Given the description of an element on the screen output the (x, y) to click on. 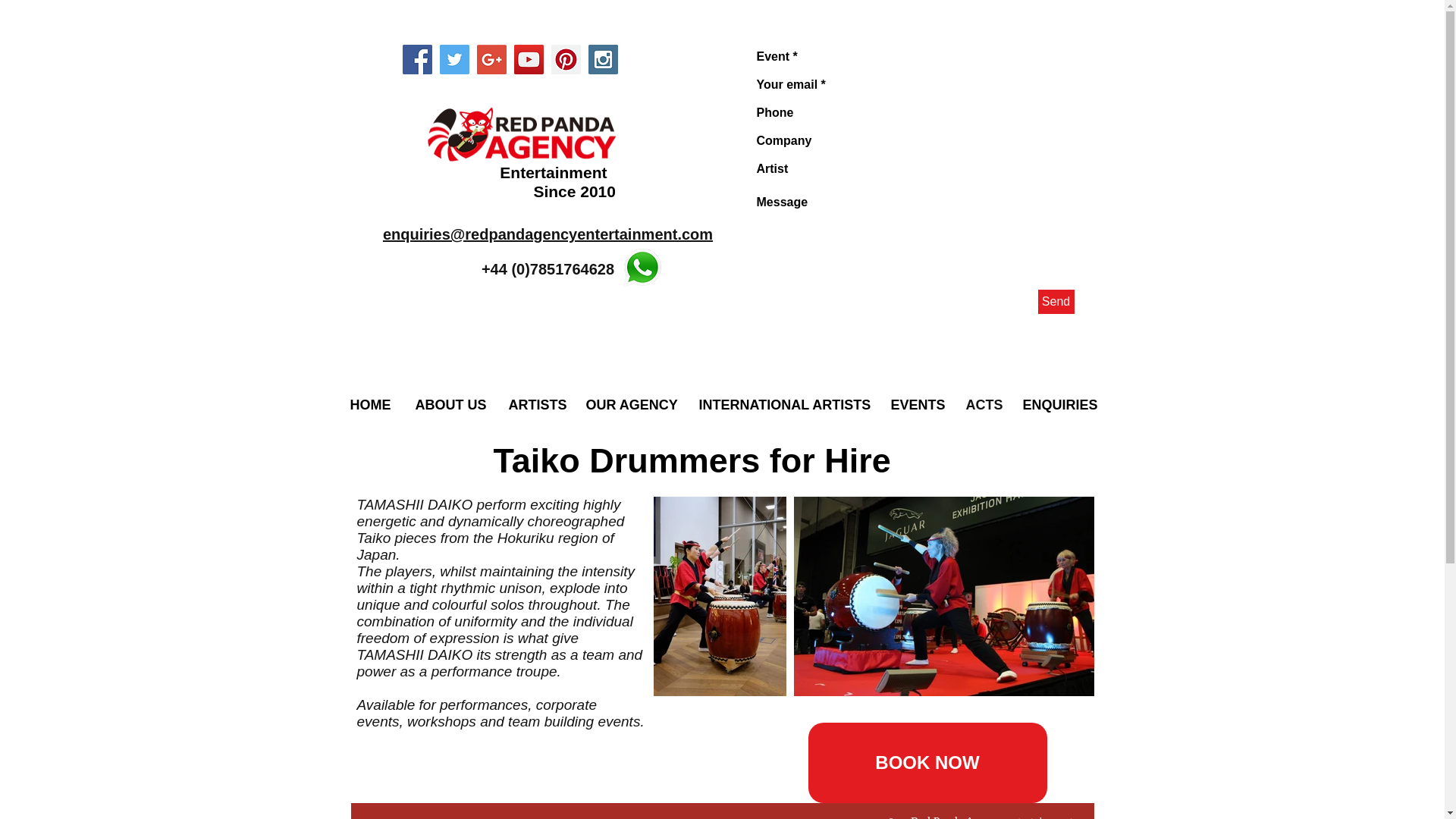
Send (1055, 301)
HOME (370, 404)
ARTISTS (534, 404)
 Entertainment  (551, 171)
ABOUT US (449, 404)
